Given the description of an element on the screen output the (x, y) to click on. 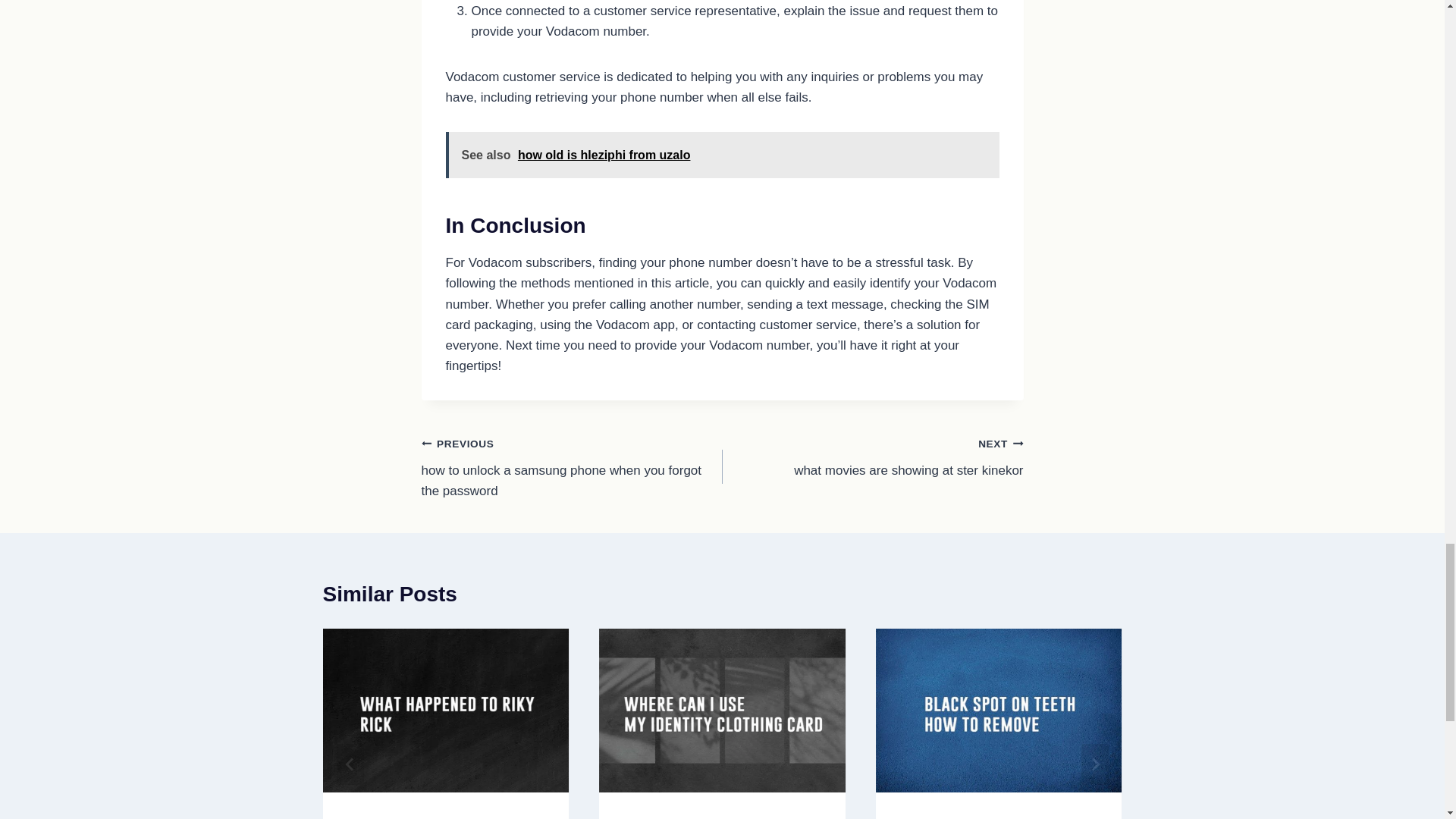
See also  how old is hleziphi from uzalo (721, 154)
